Given the description of an element on the screen output the (x, y) to click on. 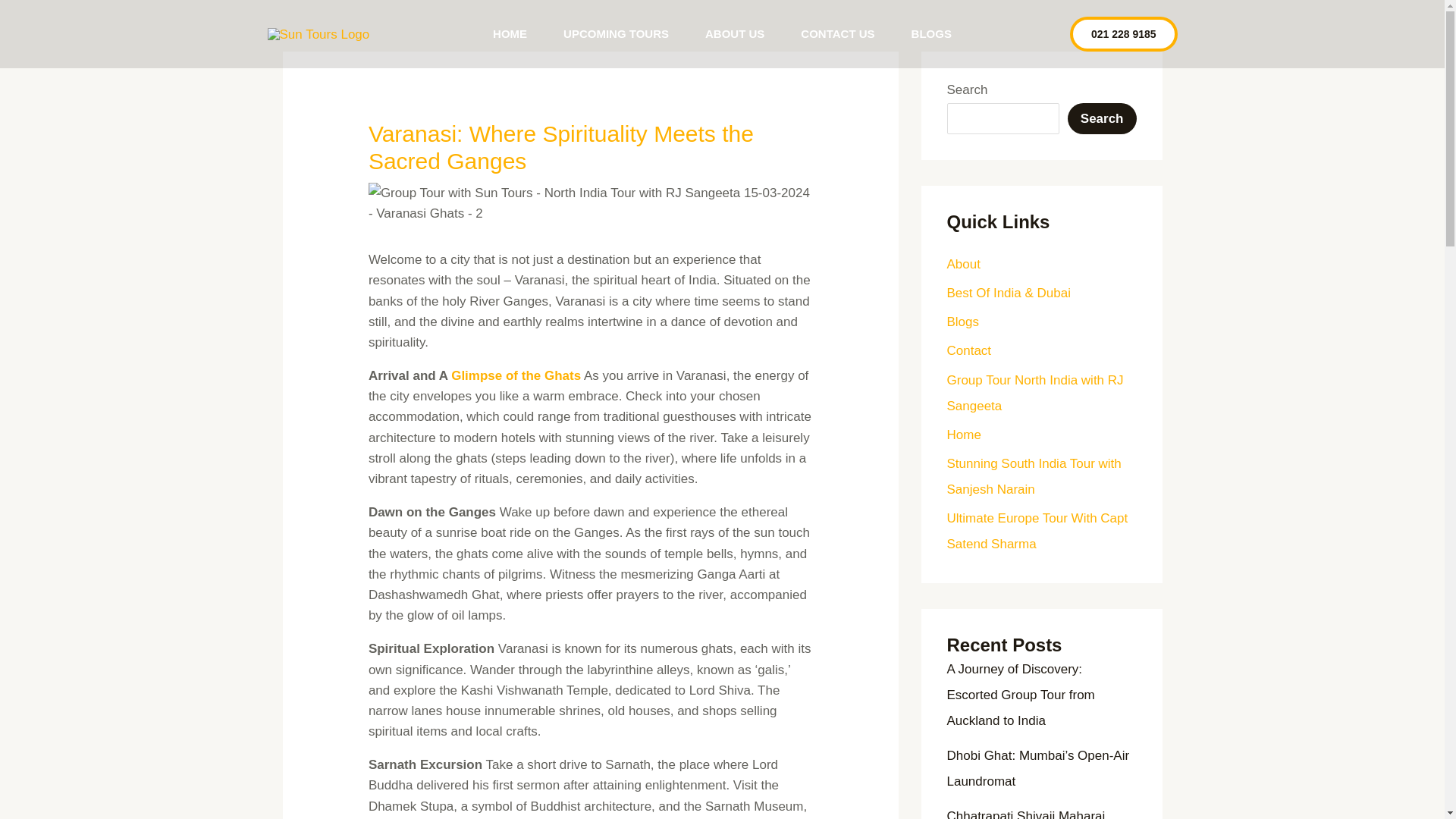
CONTACT US (837, 33)
ABOUT US (735, 33)
Ultimate Europe Tour With Capt Satend Sharma (1036, 531)
Search (1102, 118)
Glimpse of the Ghats (515, 375)
Group Tour North India with RJ Sangeeta (1034, 393)
021 228 9185 (1123, 33)
Home (962, 434)
Stunning South India Tour with Sanjesh Narain (1033, 476)
BLOGS (931, 33)
